Given the description of an element on the screen output the (x, y) to click on. 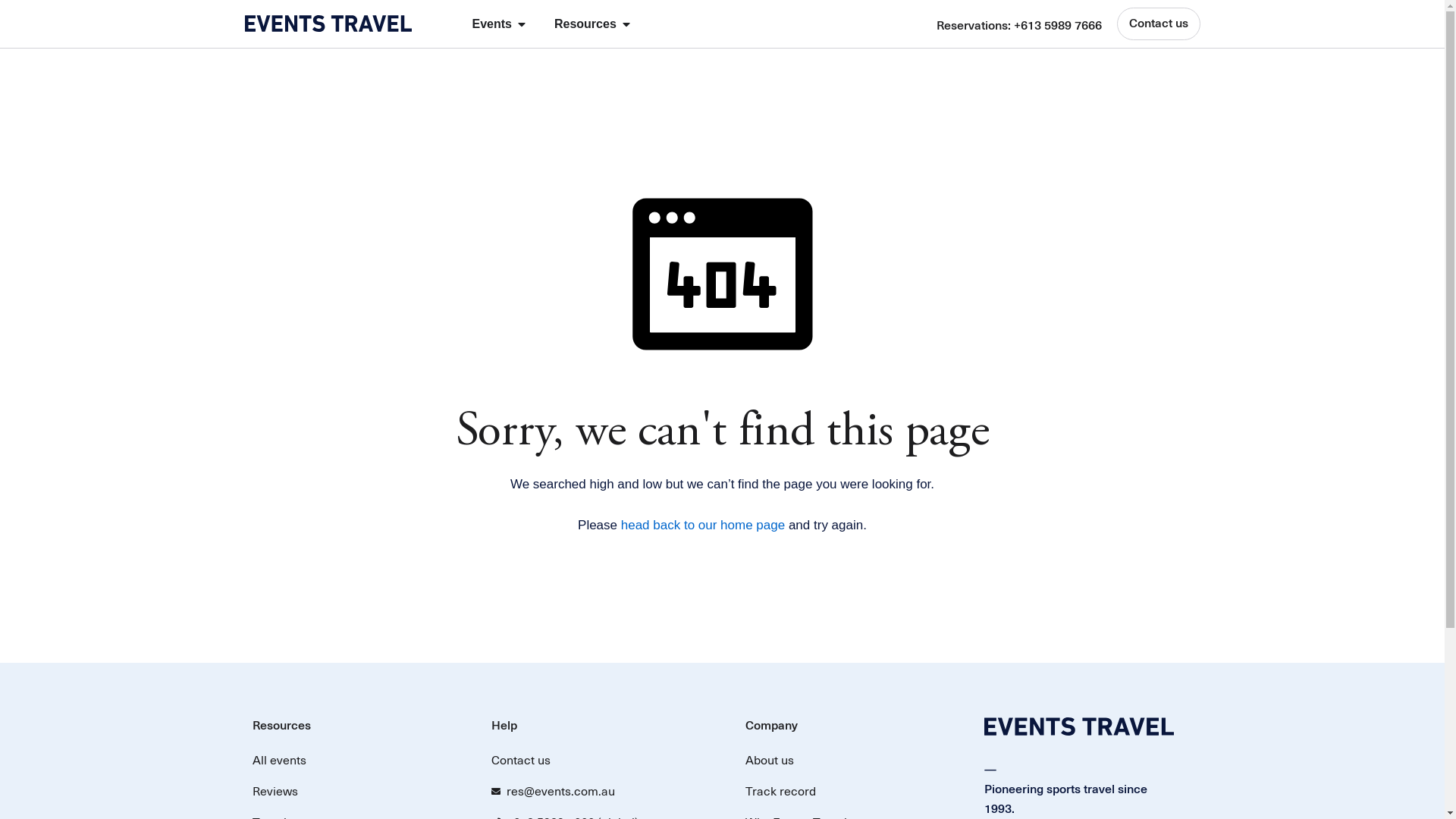
res@events.com.au Element type: text (595, 791)
head back to our home page Element type: text (702, 524)
Reviews Element type: text (355, 791)
Contact us Element type: text (1157, 23)
About us Element type: text (848, 760)
Contact us Element type: text (595, 760)
Reservations: +613 5989 7666 Element type: text (1018, 26)
Track record Element type: text (848, 791)
All events Element type: text (355, 760)
